Given the description of an element on the screen output the (x, y) to click on. 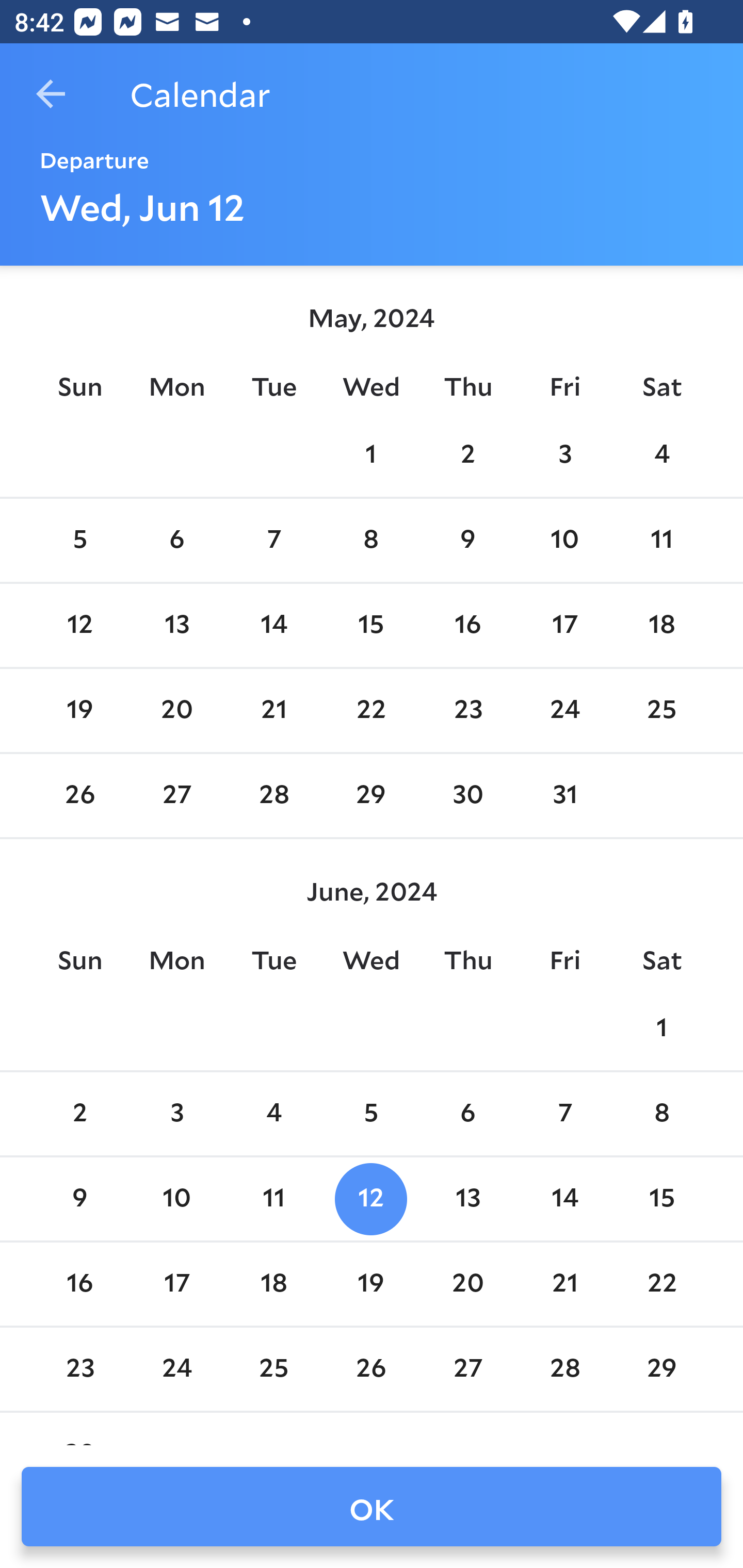
Navigate up (50, 93)
1 (371, 454)
2 (467, 454)
3 (565, 454)
4 (661, 454)
5 (79, 540)
6 (177, 540)
7 (273, 540)
8 (371, 540)
9 (467, 540)
10 (565, 540)
11 (661, 540)
12 (79, 625)
13 (177, 625)
14 (273, 625)
15 (371, 625)
16 (467, 625)
17 (565, 625)
18 (661, 625)
19 (79, 710)
20 (177, 710)
21 (273, 710)
22 (371, 710)
23 (467, 710)
24 (565, 710)
25 (661, 710)
26 (79, 796)
27 (177, 796)
28 (273, 796)
29 (371, 796)
30 (467, 796)
31 (565, 796)
1 (661, 1028)
2 (79, 1114)
3 (177, 1114)
4 (273, 1114)
5 (371, 1114)
6 (467, 1114)
7 (565, 1114)
8 (661, 1114)
9 (79, 1199)
10 (177, 1199)
11 (273, 1199)
12 (371, 1199)
13 (467, 1199)
14 (565, 1199)
15 (661, 1199)
16 (79, 1284)
17 (177, 1284)
18 (273, 1284)
19 (371, 1284)
20 (467, 1284)
21 (565, 1284)
22 (661, 1284)
23 (79, 1368)
24 (177, 1368)
25 (273, 1368)
26 (371, 1368)
27 (467, 1368)
28 (565, 1368)
29 (661, 1368)
OK (371, 1506)
